Given the description of an element on the screen output the (x, y) to click on. 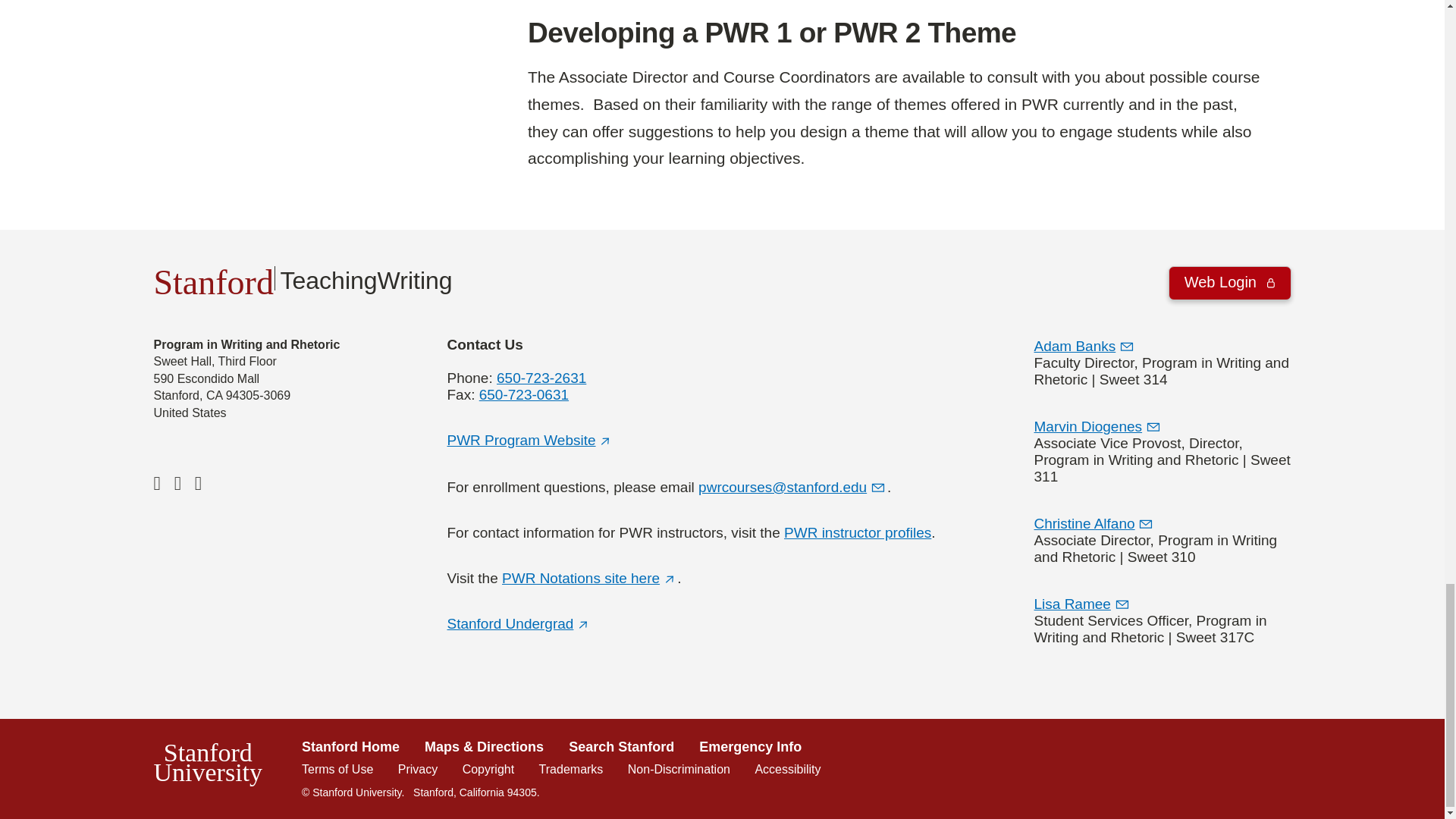
Terms of use for sites (336, 768)
Report alleged copyright infringement (488, 768)
Report web accessibility issues (787, 768)
Non-discrimination policy (678, 768)
Privacy and cookie policy (417, 768)
Ownership and use of Stanford trademarks and images (571, 768)
